Given the description of an element on the screen output the (x, y) to click on. 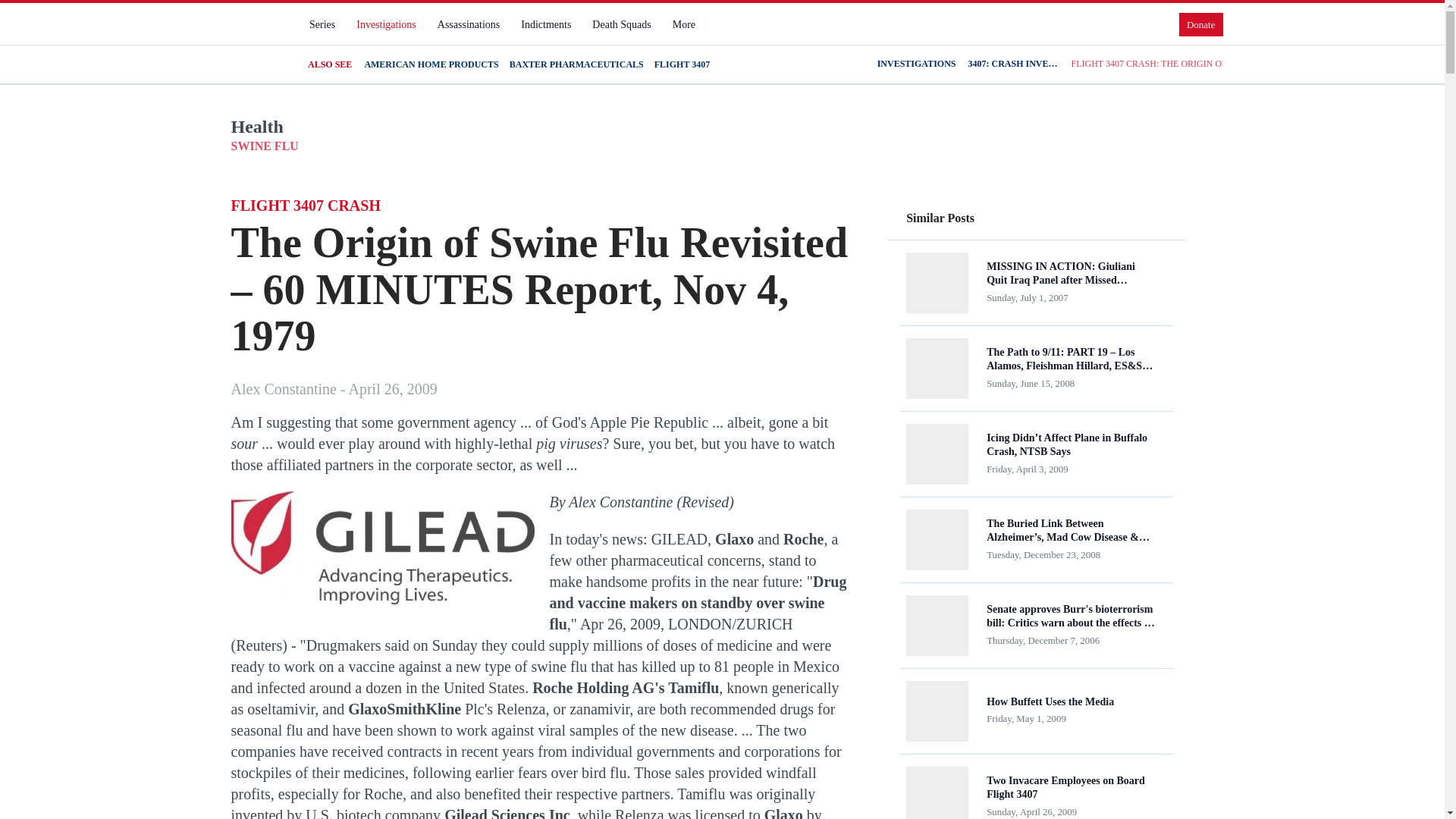
Assassinations (467, 23)
INVESTIGATIONS (916, 63)
Donate (1201, 24)
Constantine Report (257, 37)
Death Squads (621, 23)
More (690, 24)
Flight 3407 Crash (382, 547)
3407: CRASH INVESTIGATION (1013, 63)
Series (321, 23)
FLIGHT 3407 (681, 64)
